Given the description of an element on the screen output the (x, y) to click on. 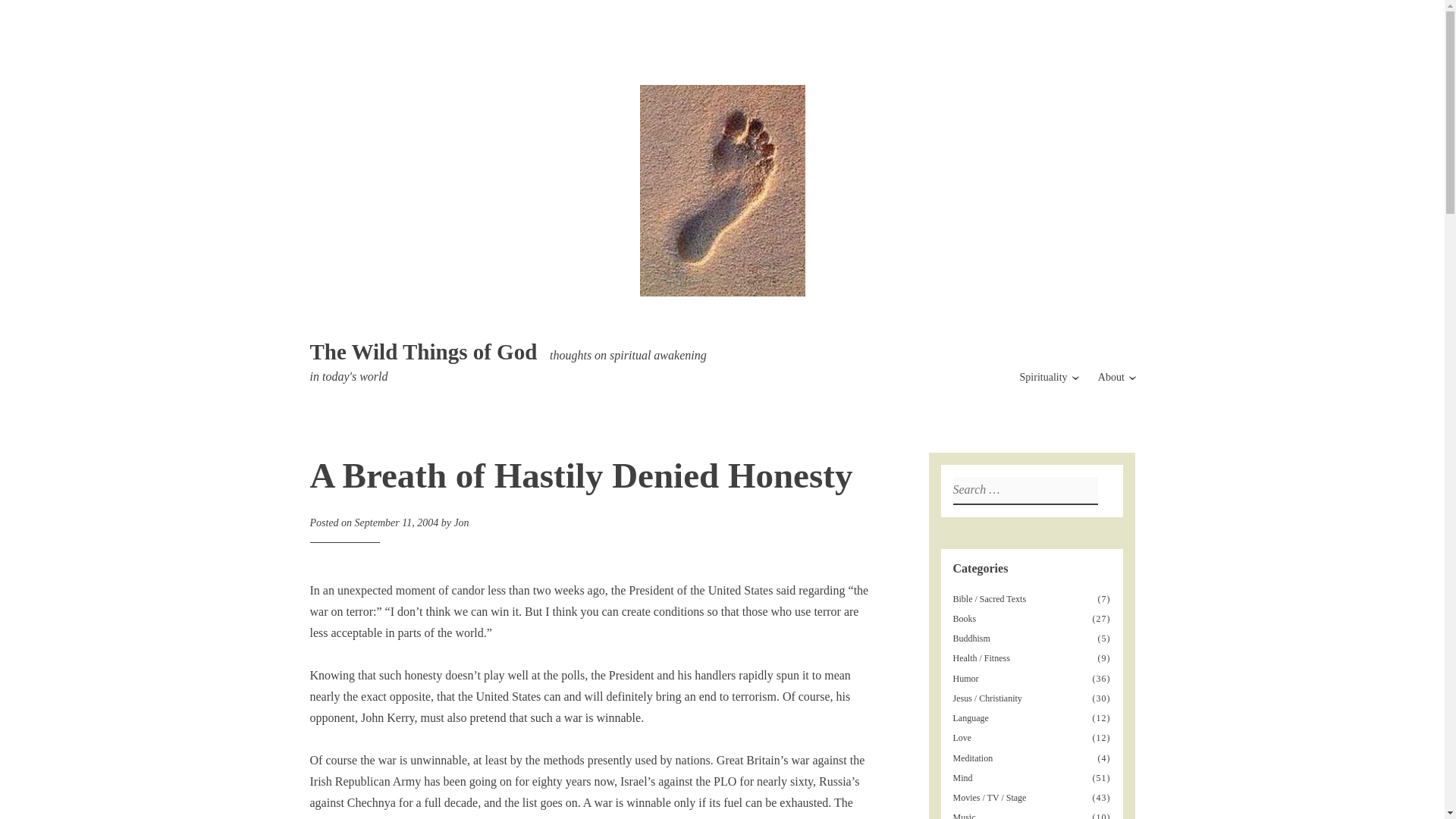
Meditation (973, 757)
September 11, 2004 (397, 522)
Humor (966, 678)
Language (972, 717)
Jon (460, 522)
Music (965, 815)
Spirituality (1043, 377)
Buddhism (973, 638)
Mind (963, 777)
Books (965, 618)
About (1110, 377)
Love (963, 737)
The Wild Things of God (422, 351)
Search (17, 13)
